Given the description of an element on the screen output the (x, y) to click on. 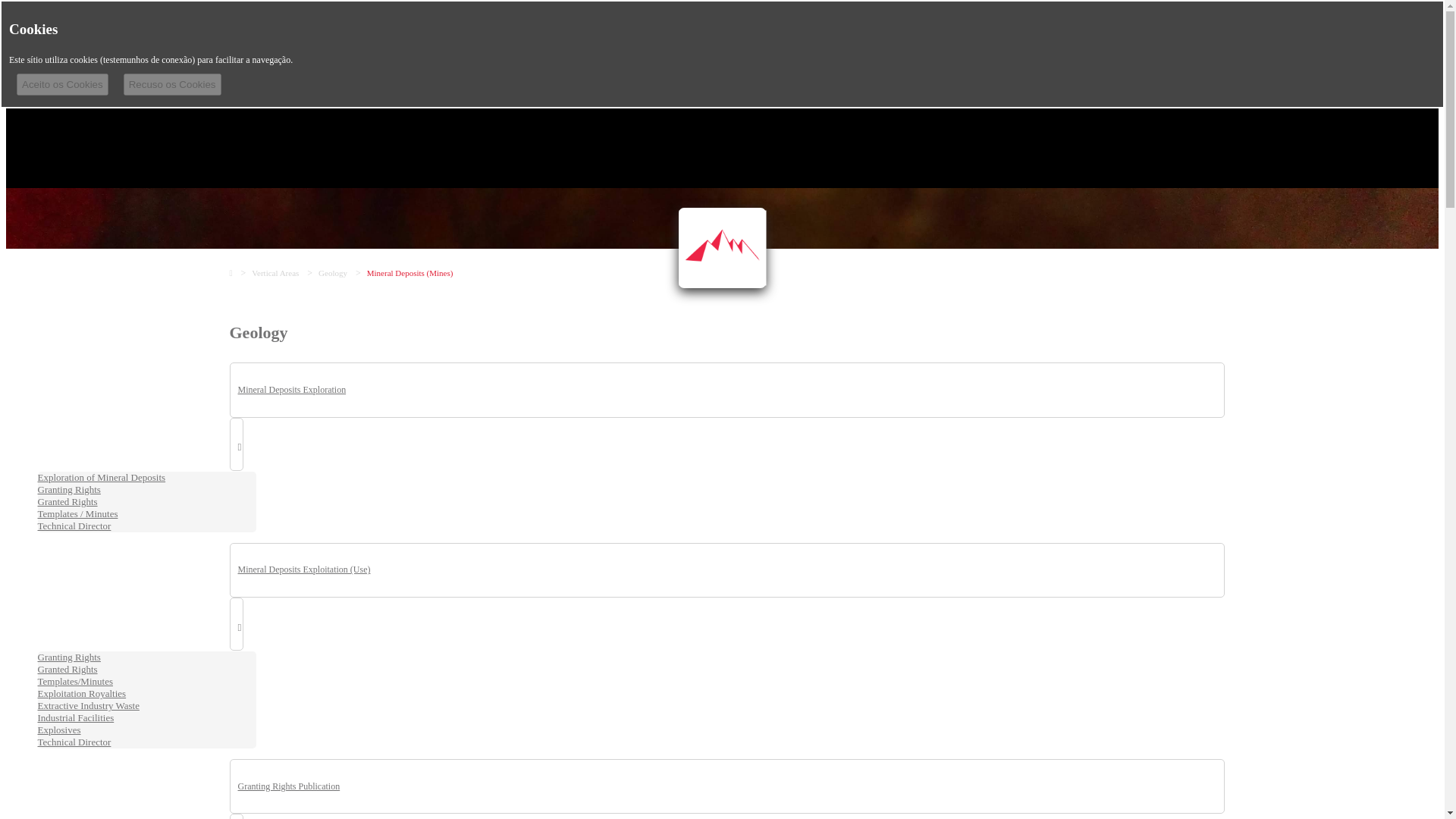
VERTICAL AREAS (676, 66)
Aceito os Cookies (61, 84)
TRANSVERSAL AREAS (792, 66)
ONLINE SERVICES (911, 66)
Recuso os Cookies (172, 84)
Press (65, 56)
DESTAQUES (590, 66)
Search Icon (1209, 66)
DGEG (532, 66)
